Given the description of an element on the screen output the (x, y) to click on. 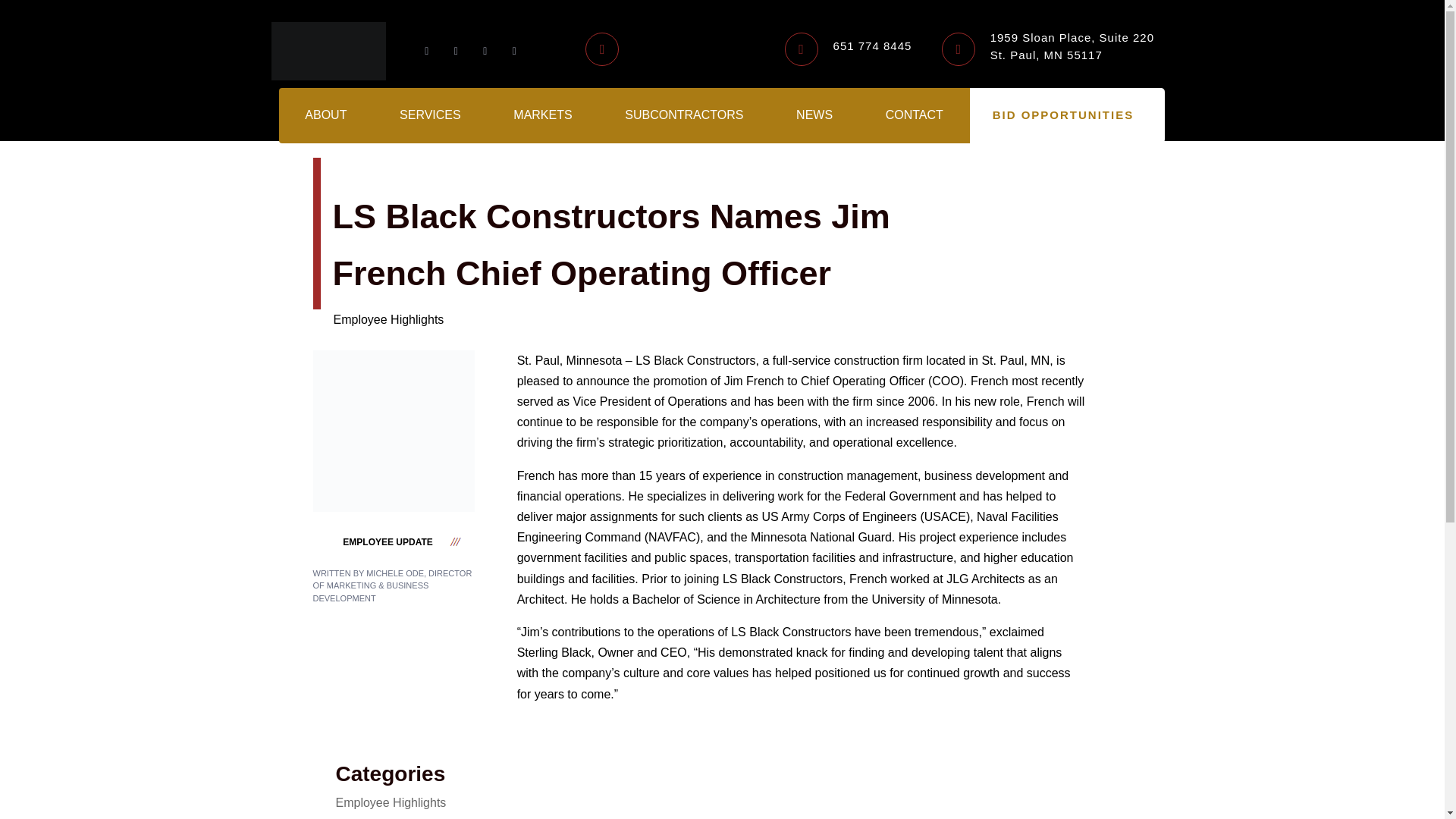
MARKETS (542, 115)
SERVICES (429, 115)
ABOUT (326, 115)
651 774 8445 (1072, 46)
